Given the description of an element on the screen output the (x, y) to click on. 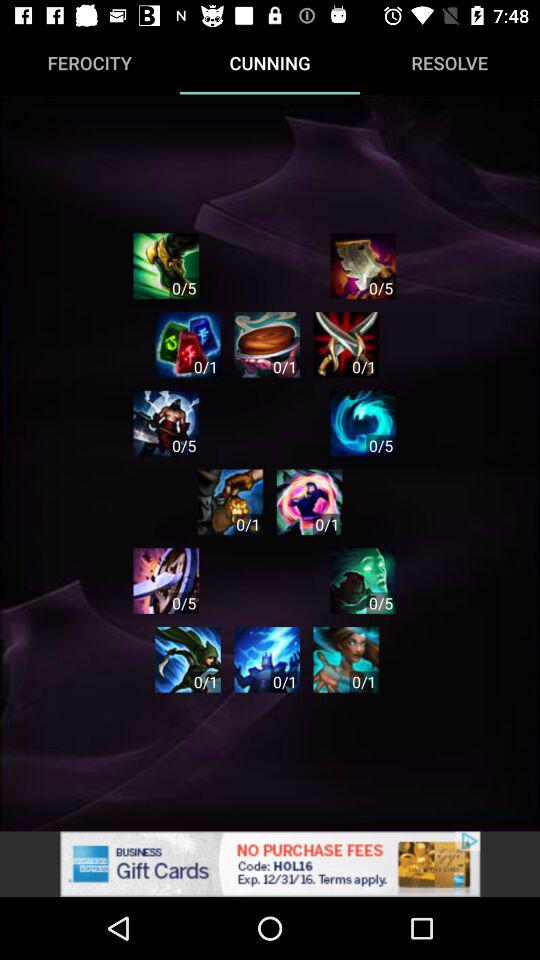
click the cunning characters (166, 423)
